Given the description of an element on the screen output the (x, y) to click on. 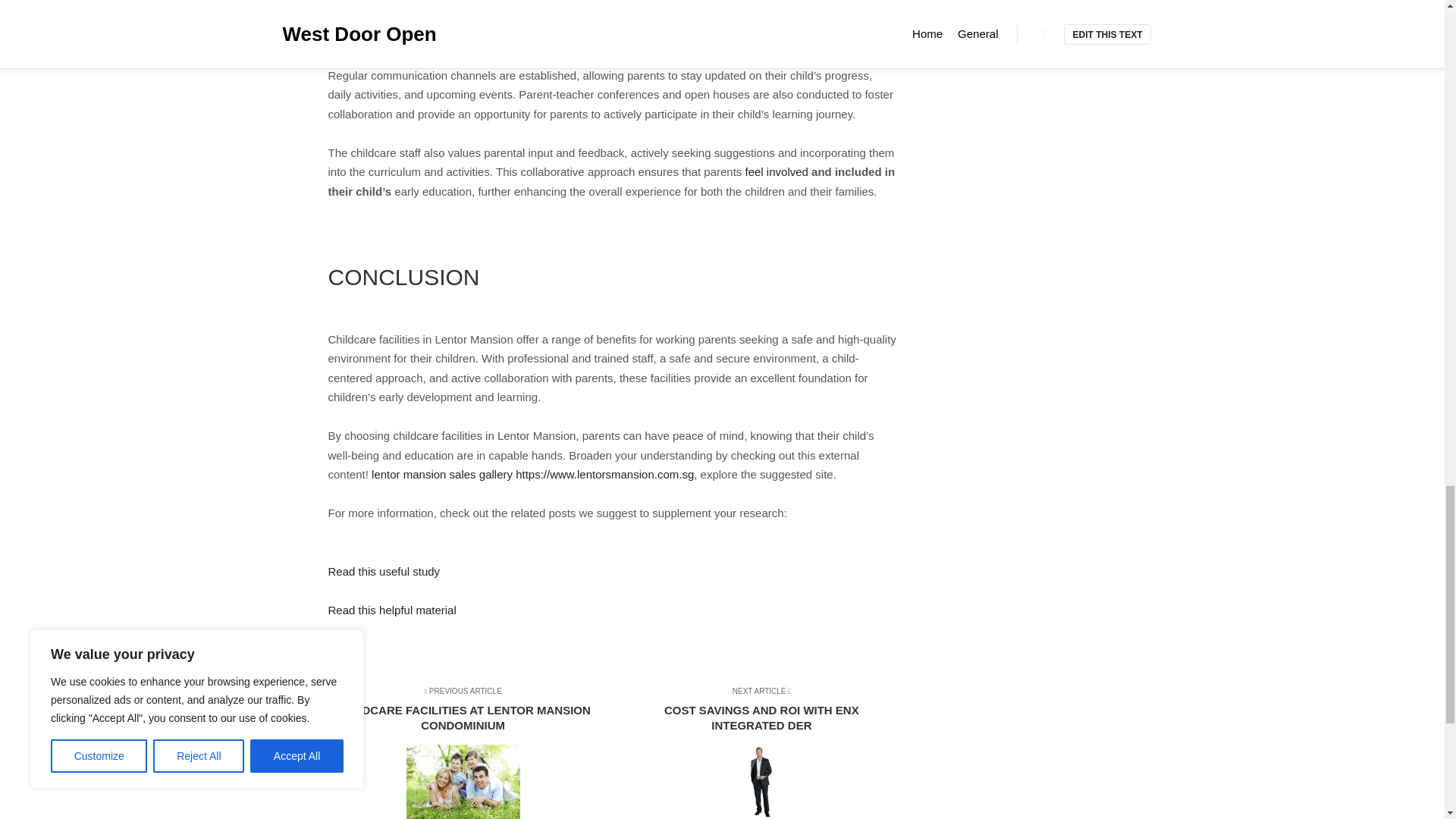
feel involved (776, 171)
Read this helpful material (391, 609)
Read this useful study (383, 571)
